Given the description of an element on the screen output the (x, y) to click on. 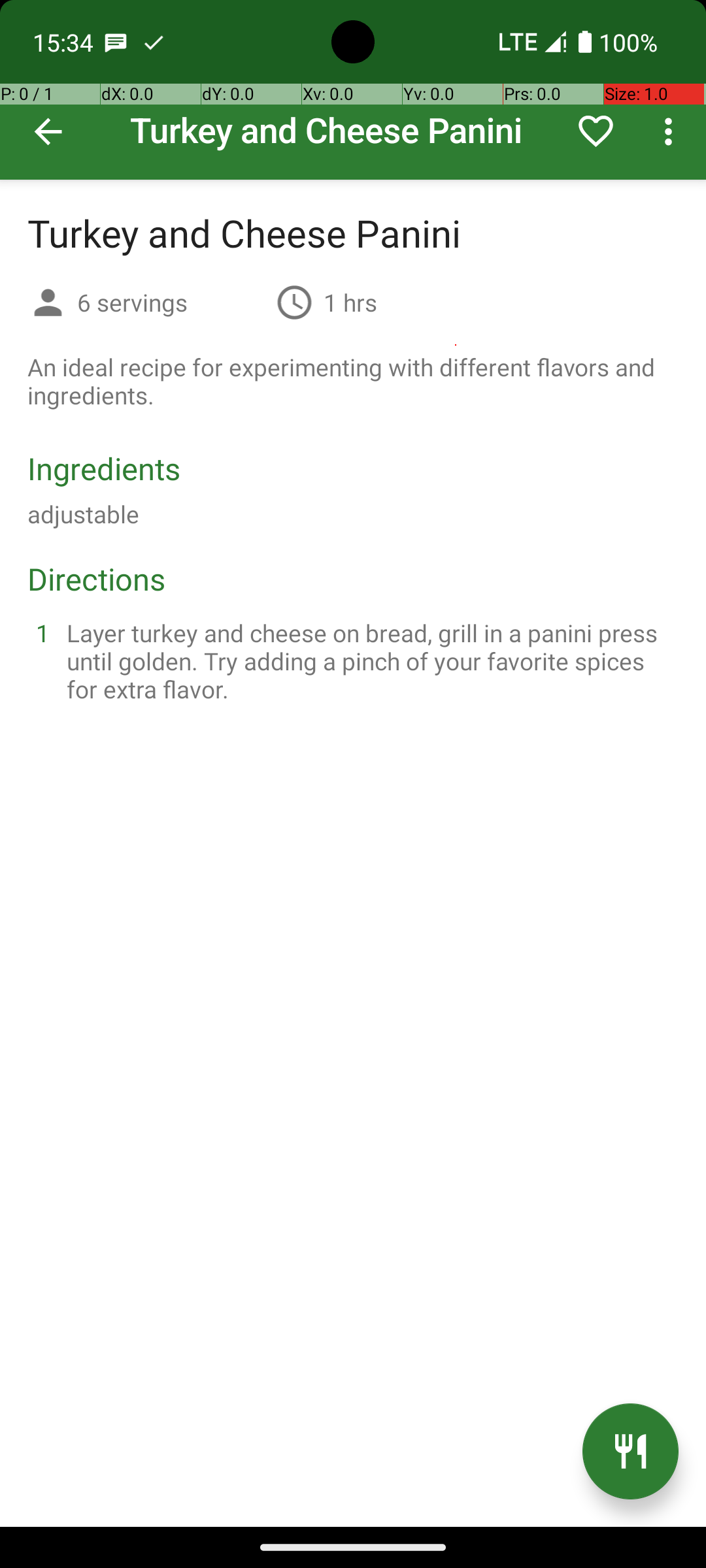
Turkey and Cheese Panini Element type: android.widget.FrameLayout (353, 89)
Layer turkey and cheese on bread, grill in a panini press until golden. Try adding a pinch of your favorite spices for extra flavor. Element type: android.widget.TextView (368, 660)
